Given the description of an element on the screen output the (x, y) to click on. 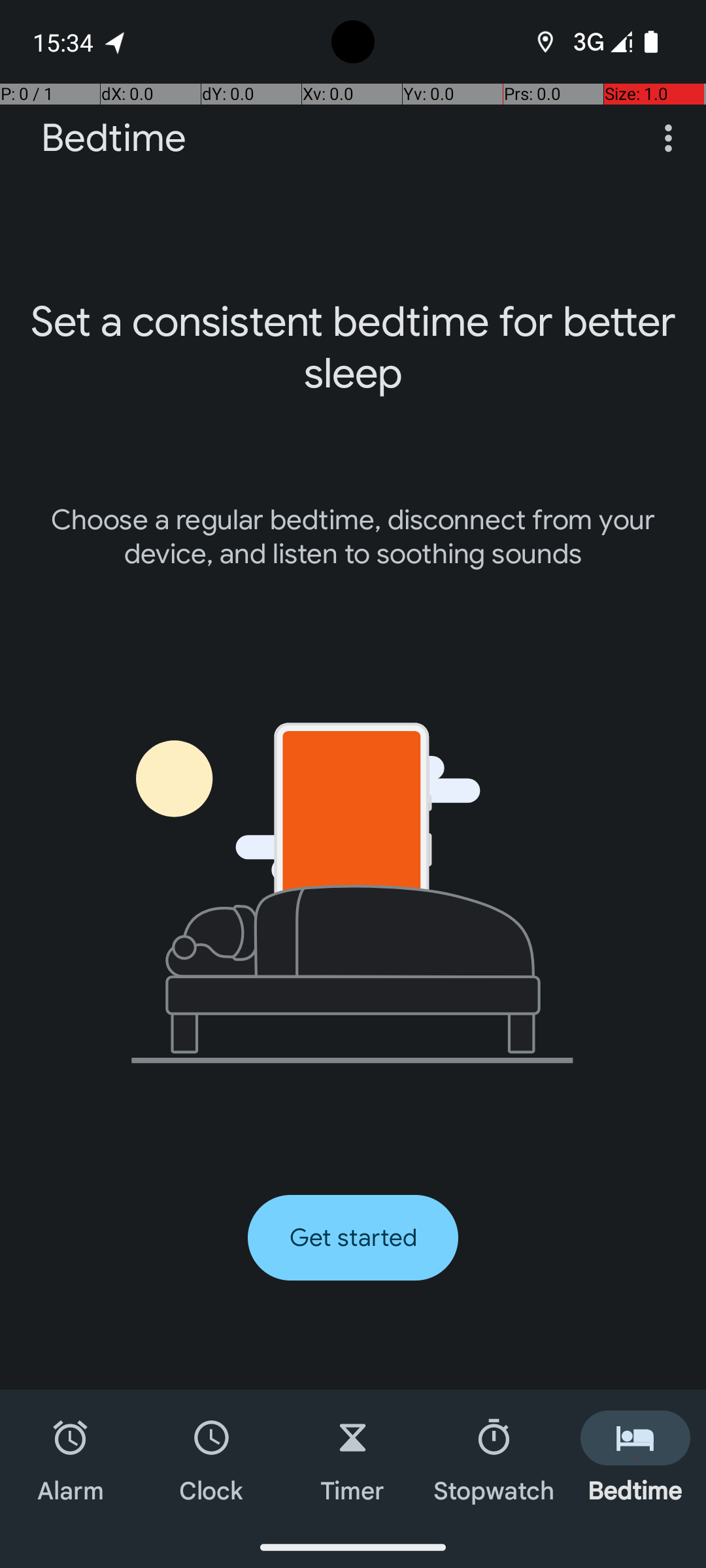
Set a consistent bedtime for better sleep Element type: android.widget.TextView (352, 347)
Choose a regular bedtime, disconnect from your device, and listen to soothing sounds Element type: android.widget.TextView (352, 536)
